Given the description of an element on the screen output the (x, y) to click on. 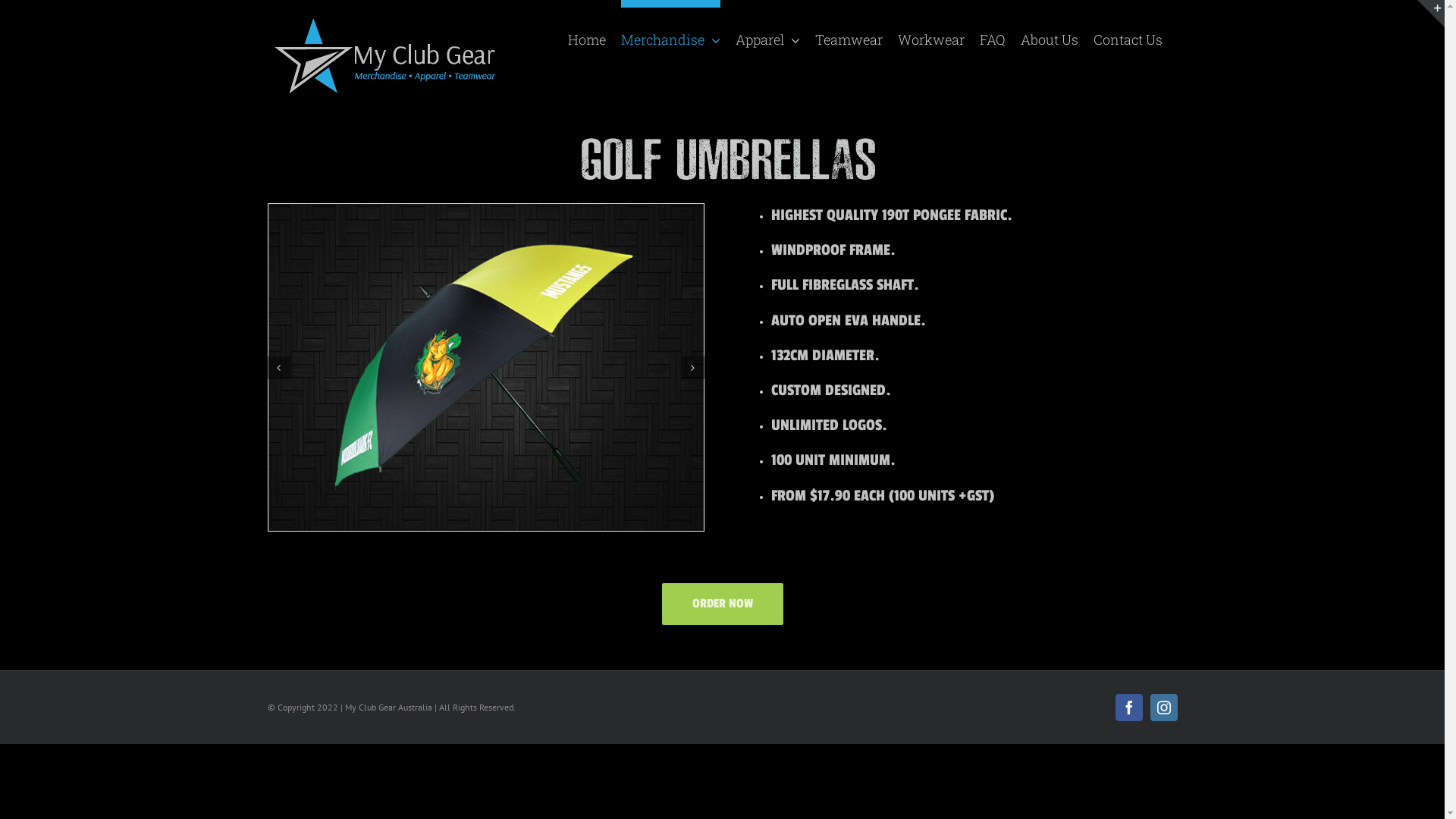
Teamwear Element type: text (847, 35)
Home Element type: text (586, 35)
About Us Element type: text (1049, 35)
Golf Umbrellas Element type: hover (722, 158)
Facebook Element type: text (1128, 707)
Instagram Element type: text (1162, 707)
Merchandise Element type: text (669, 35)
ORDER NOW Element type: text (721, 603)
Contact Us Element type: text (1127, 35)
Apparel Element type: text (767, 35)
FAQ Element type: text (992, 35)
Workwear Element type: text (930, 35)
Toggle Sliding Bar Area Element type: text (1430, 13)
